Given the description of an element on the screen output the (x, y) to click on. 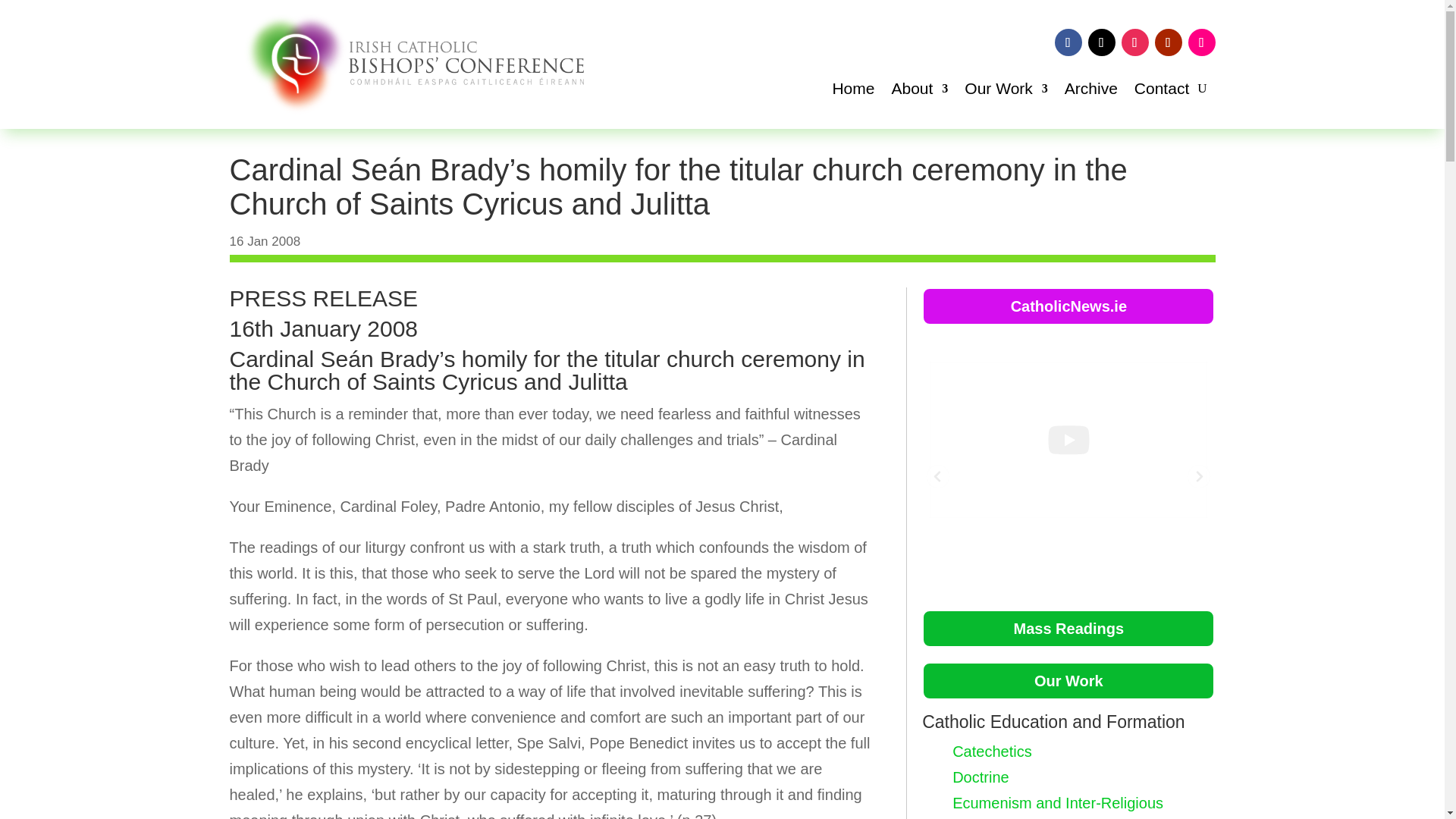
About (919, 91)
Follow on X (1101, 42)
Follow on Facebook (1067, 42)
logo (405, 64)
Follow on Flickr (1201, 42)
Our Work (1004, 91)
Home (853, 91)
Follow on Instagram (1134, 42)
Follow on Youtube (1167, 42)
